Given the description of an element on the screen output the (x, y) to click on. 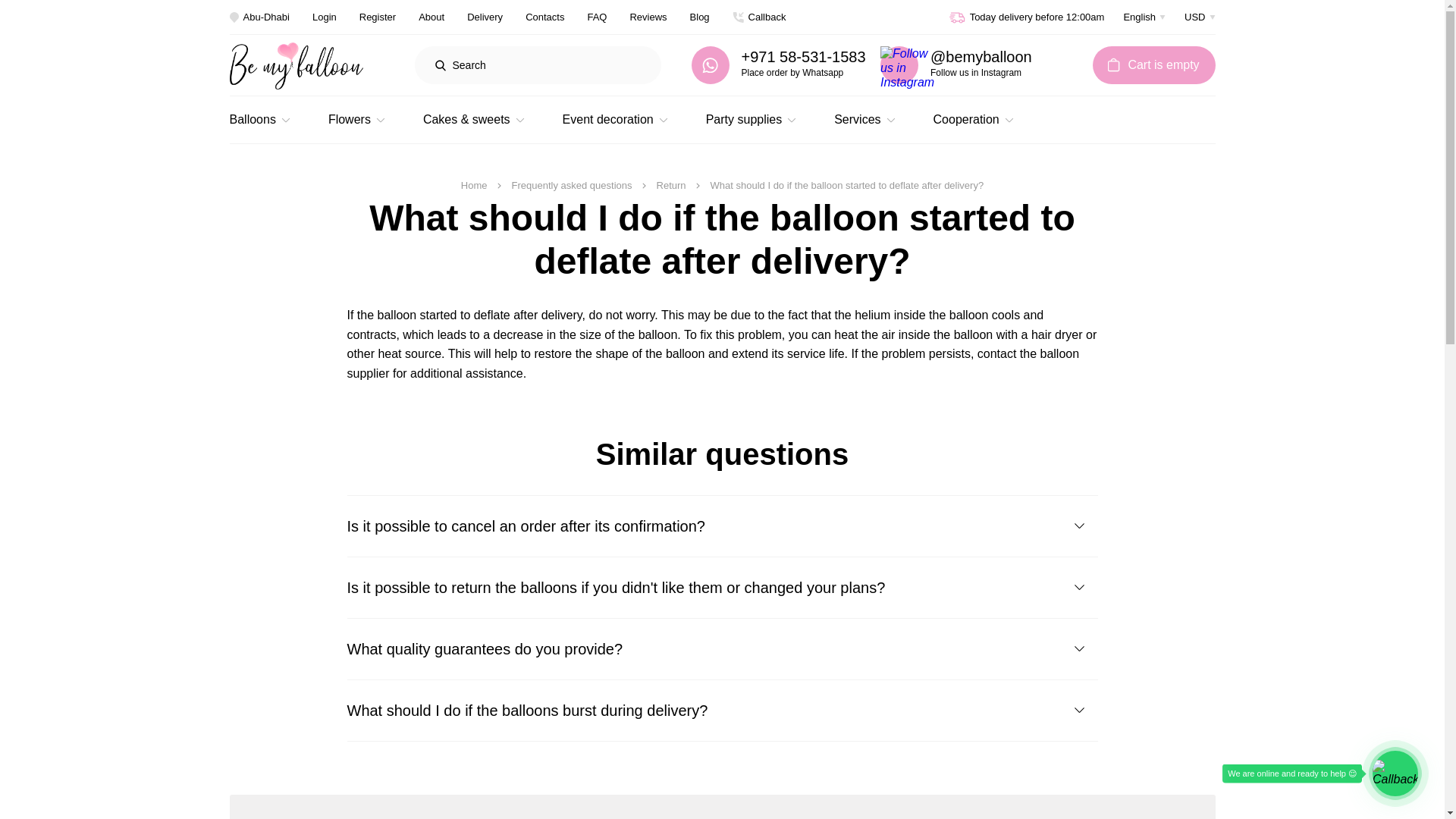
Balloons (258, 119)
About (431, 17)
Delivery (484, 17)
FAQ (596, 17)
Blog (700, 17)
Reviews (647, 17)
Contacts (544, 17)
